Given the description of an element on the screen output the (x, y) to click on. 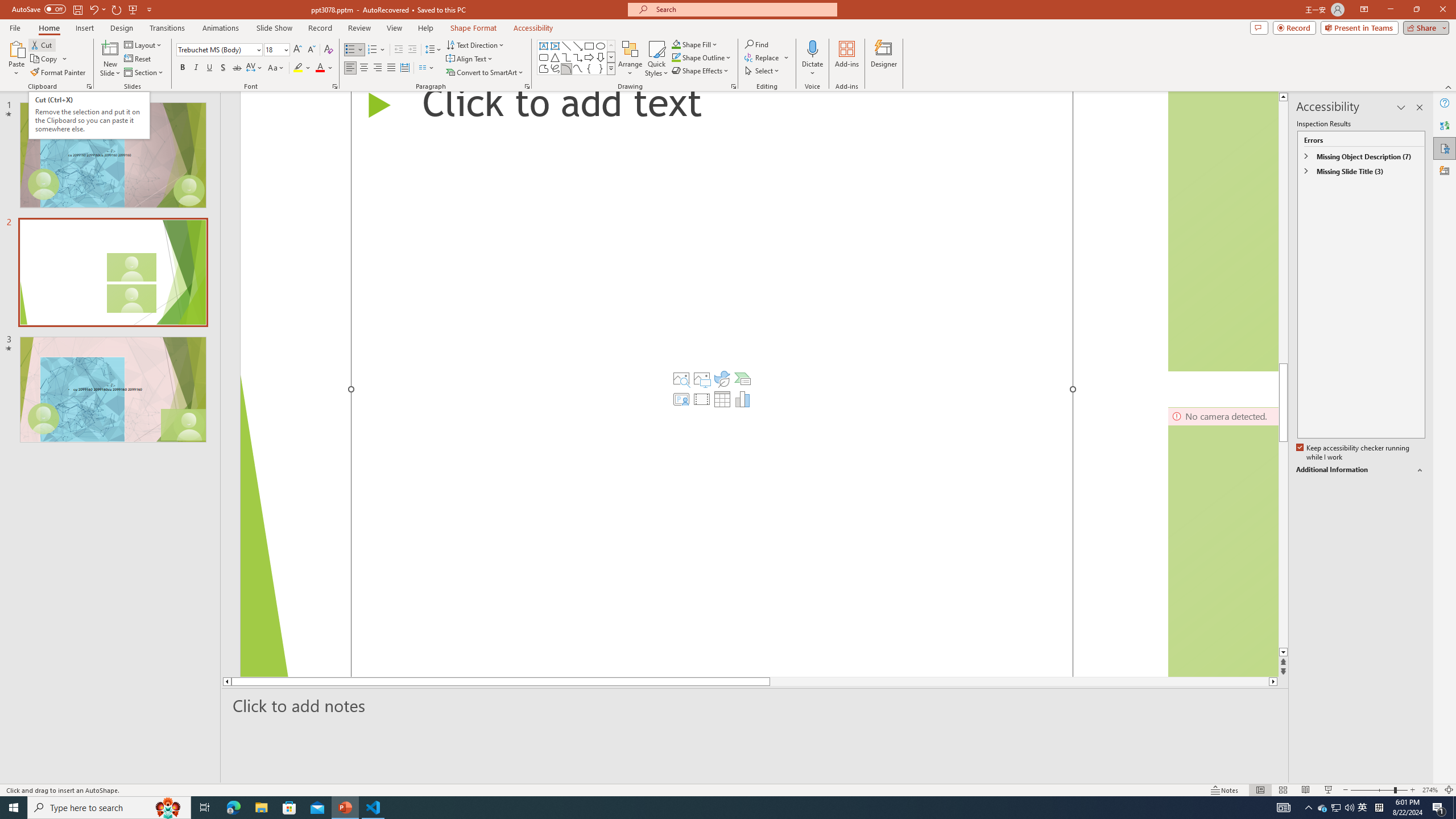
Zoom 274% (1430, 790)
Shape Format (473, 28)
